Given the description of an element on the screen output the (x, y) to click on. 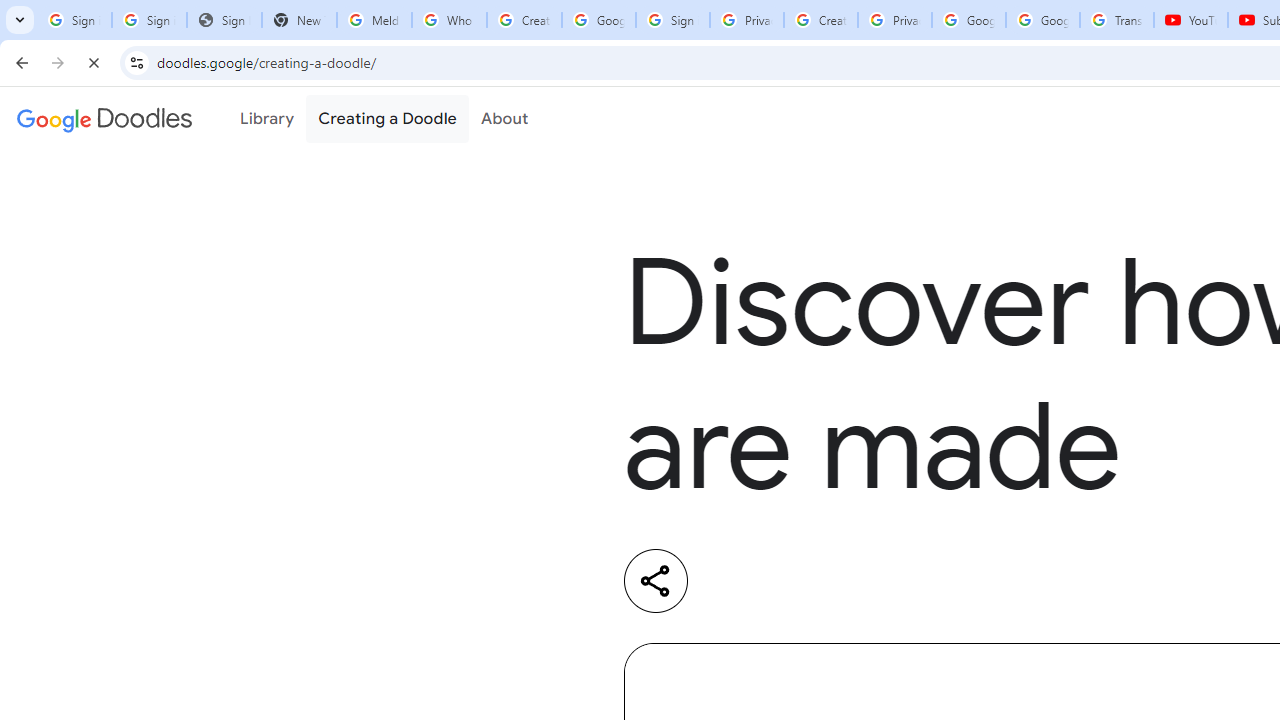
About (504, 119)
Who is my administrator? - Google Account Help (449, 20)
